Given the description of an element on the screen output the (x, y) to click on. 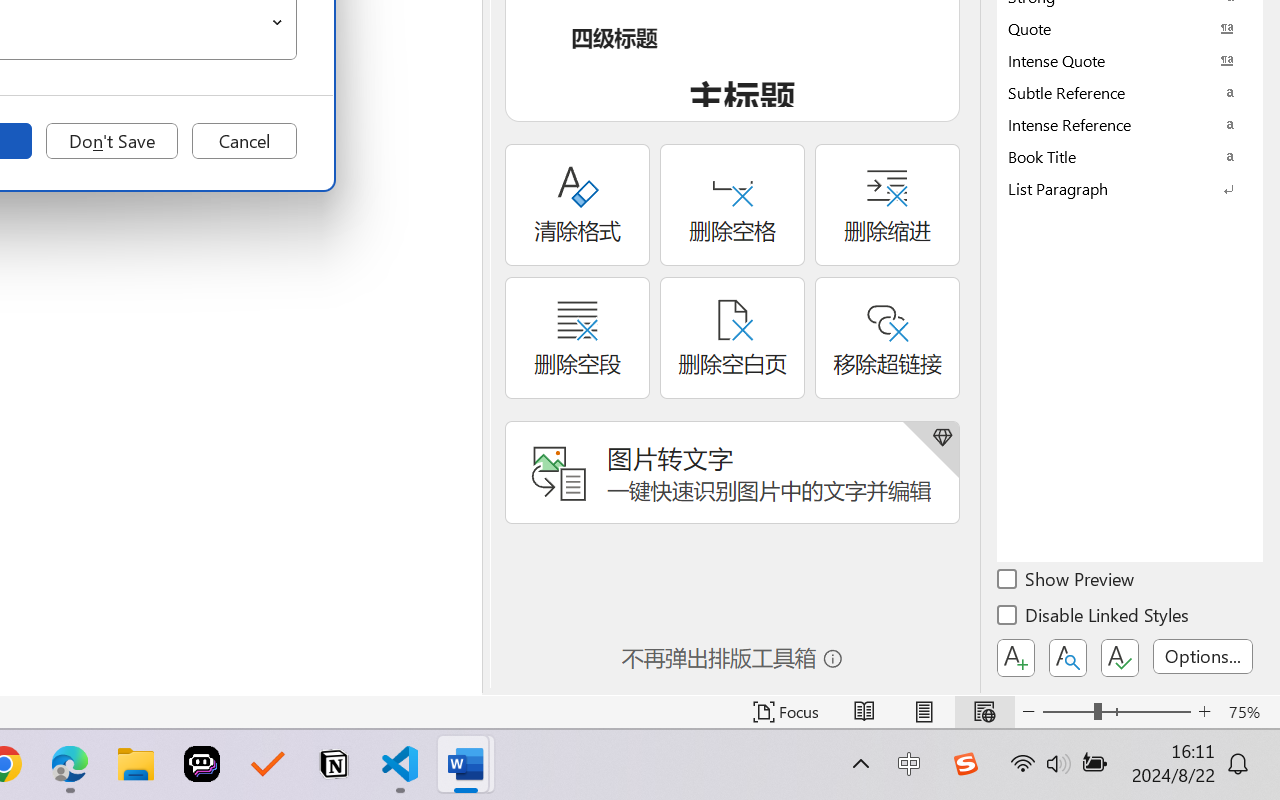
Poe (201, 764)
Zoom In (1204, 712)
List Paragraph (1130, 188)
Subtle Reference (1130, 92)
